Given the description of an element on the screen output the (x, y) to click on. 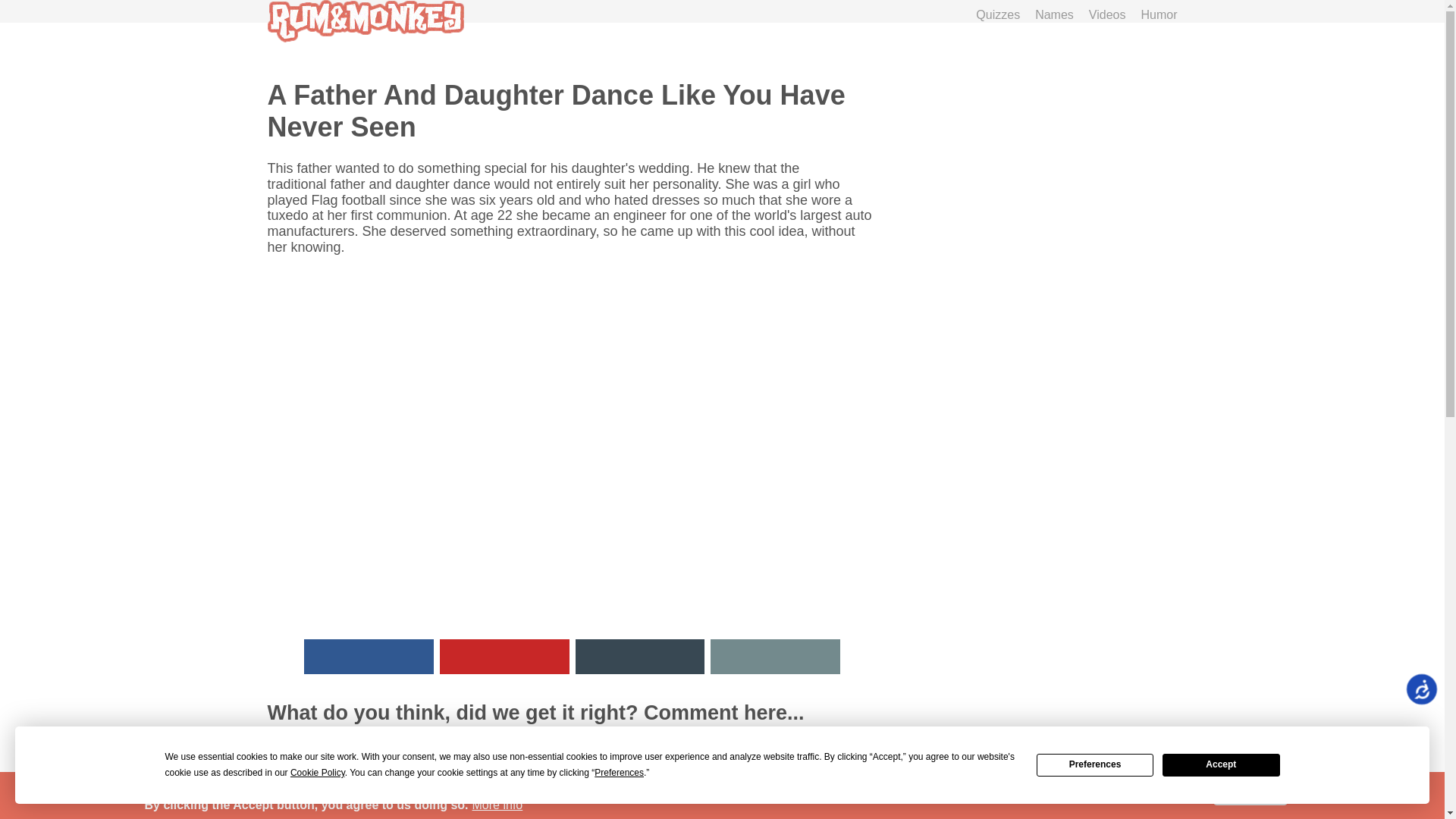
Preferences (1094, 765)
Names (1054, 14)
Videos (1107, 14)
Share to Tumblr (639, 656)
Accept (1220, 765)
Share to Pinterest (504, 656)
Share to Facebook (368, 656)
Share to Email (775, 656)
Humor (1158, 14)
Quizzes (997, 14)
